Given the description of an element on the screen output the (x, y) to click on. 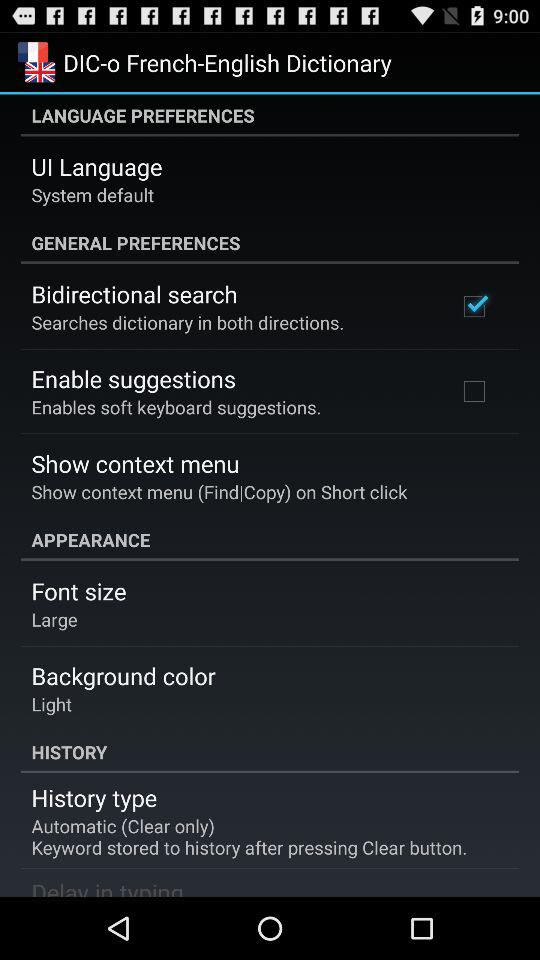
scroll to the light (51, 703)
